Given the description of an element on the screen output the (x, y) to click on. 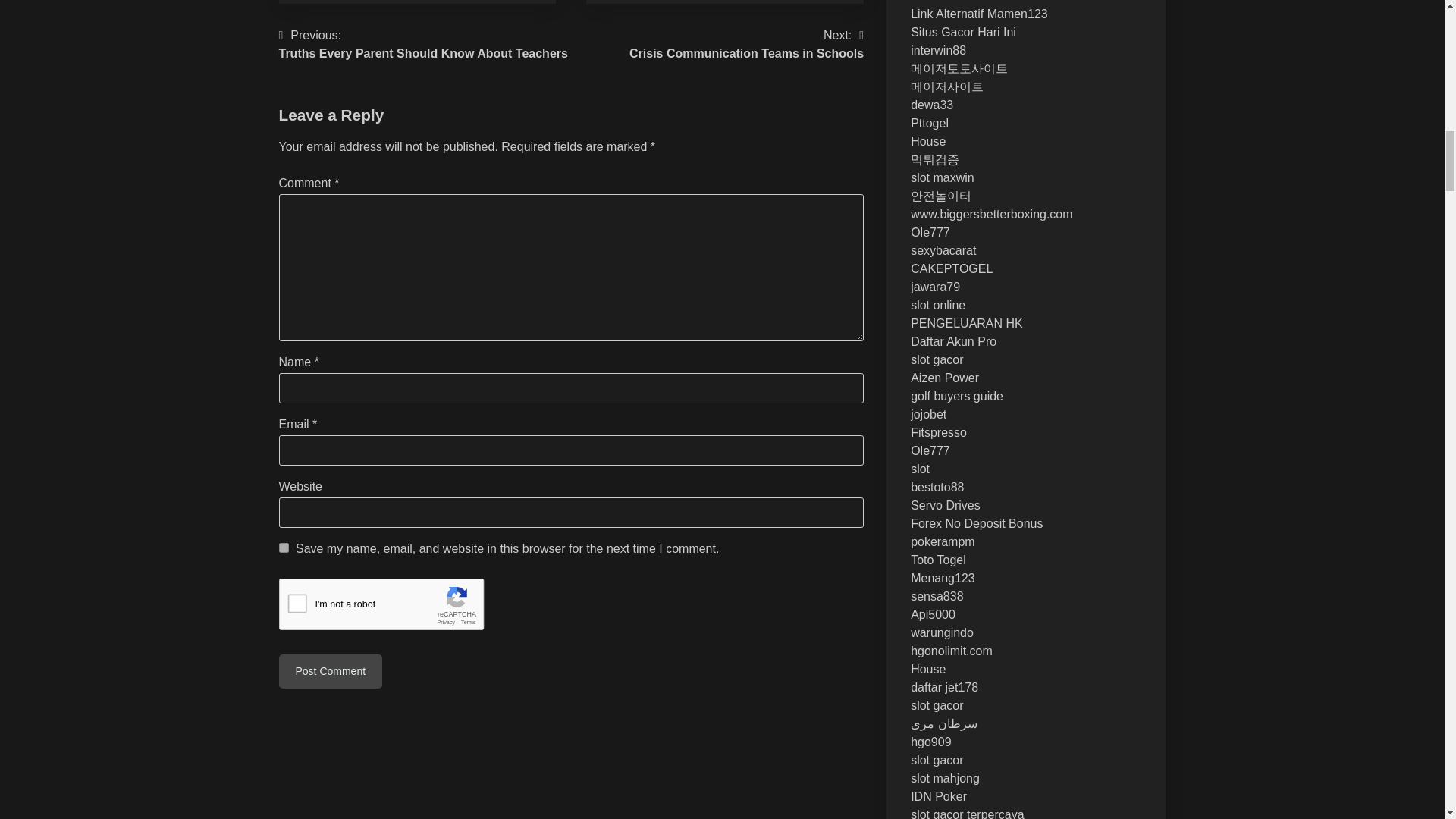
reCAPTCHA (394, 608)
jojobet (928, 413)
Post Comment (330, 671)
yes (283, 547)
Post Comment (745, 44)
